Given the description of an element on the screen output the (x, y) to click on. 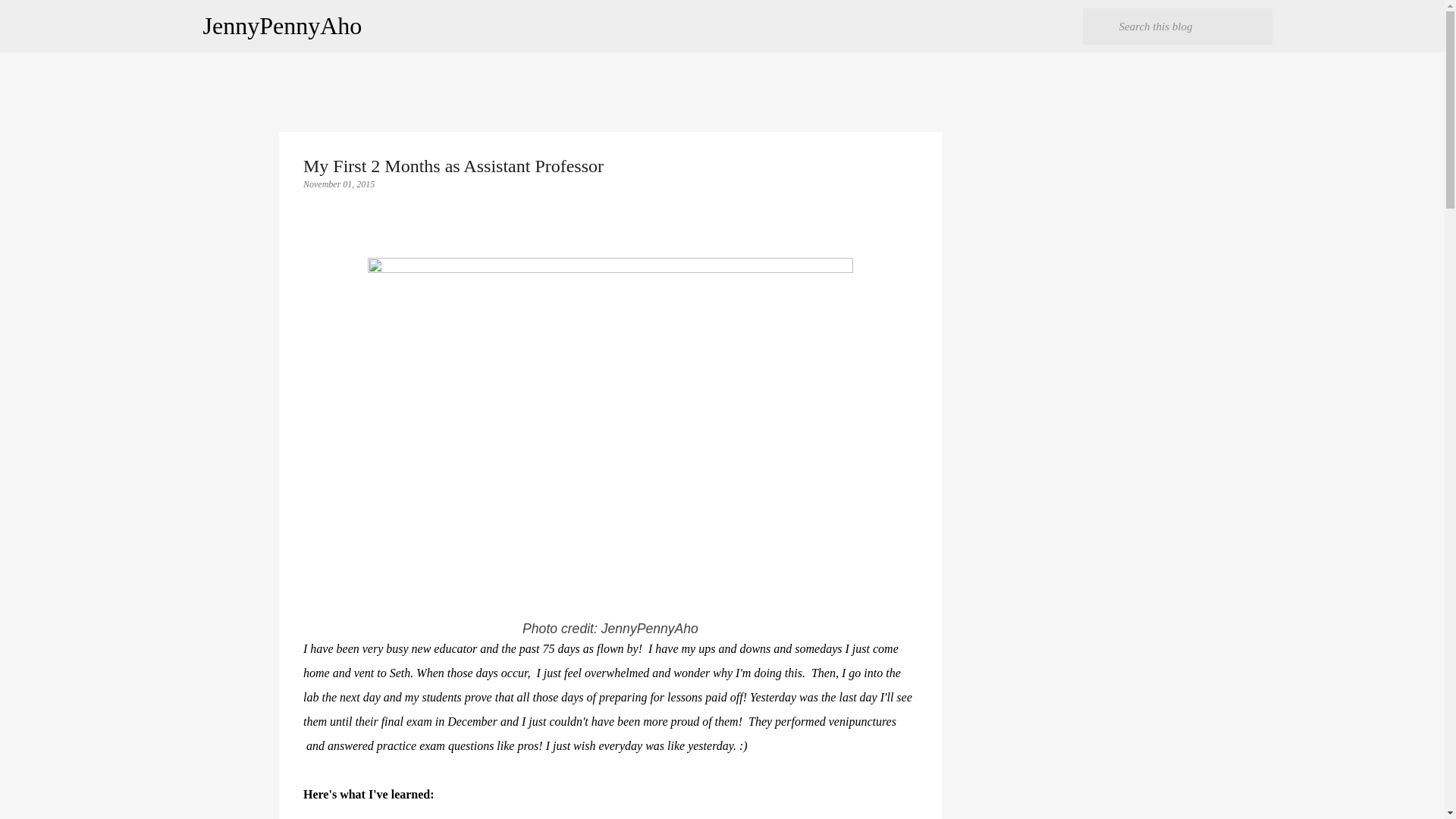
permanent link (338, 184)
JennyPennyAho (282, 25)
November 01, 2015 (338, 184)
